Given the description of an element on the screen output the (x, y) to click on. 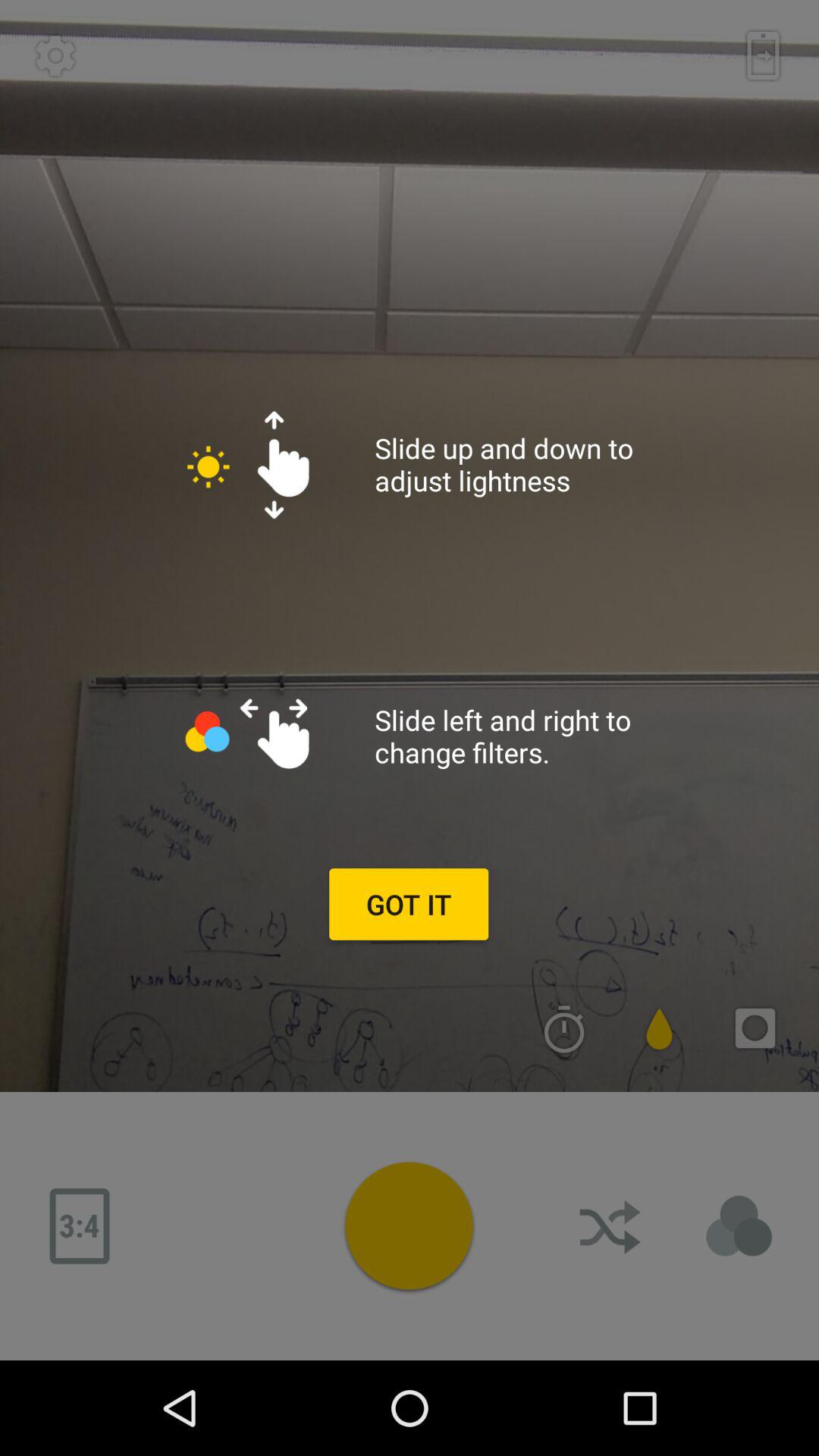
settings (55, 55)
